Given the description of an element on the screen output the (x, y) to click on. 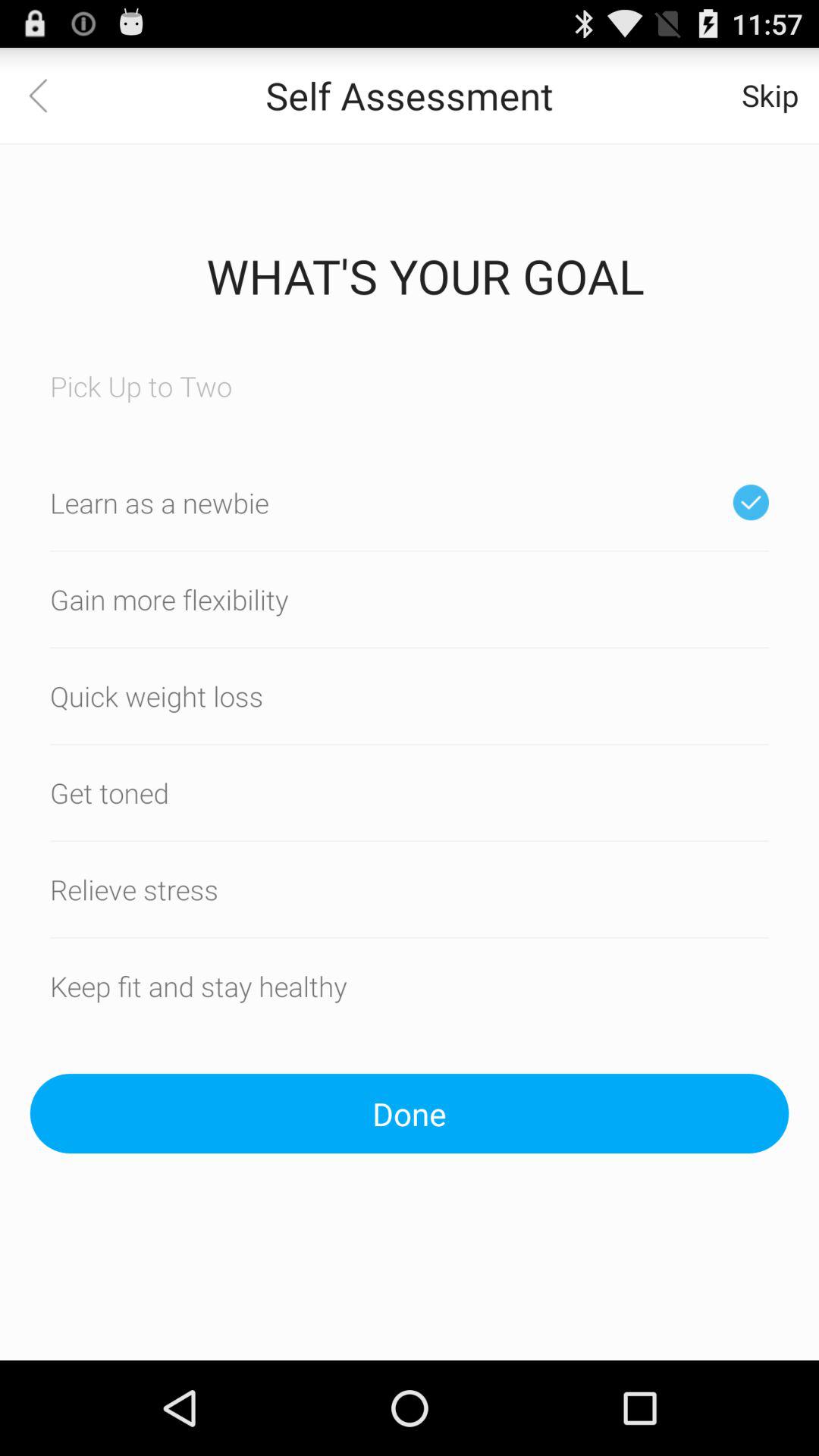
go back (47, 95)
